Given the description of an element on the screen output the (x, y) to click on. 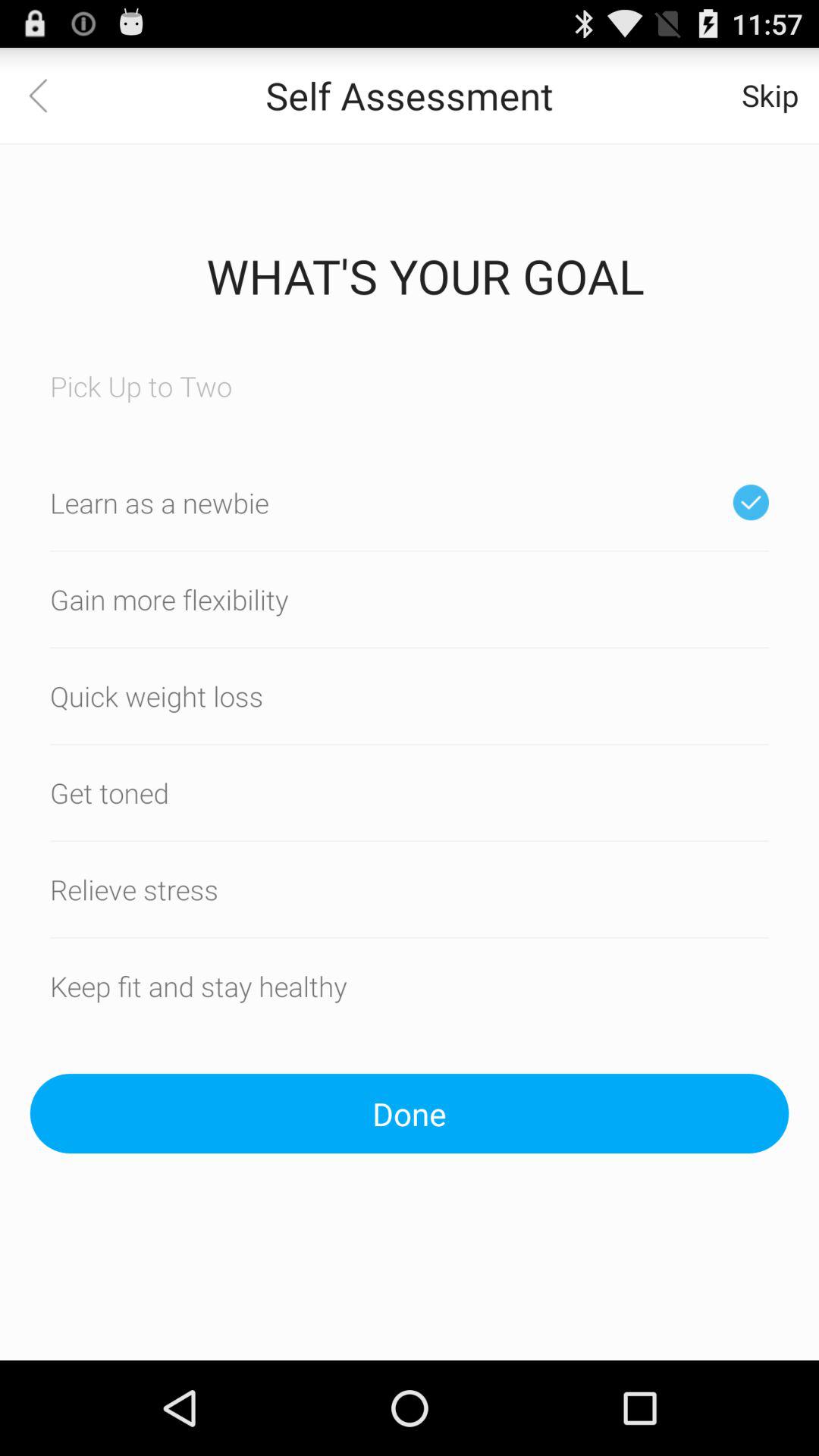
go back (47, 95)
